Given the description of an element on the screen output the (x, y) to click on. 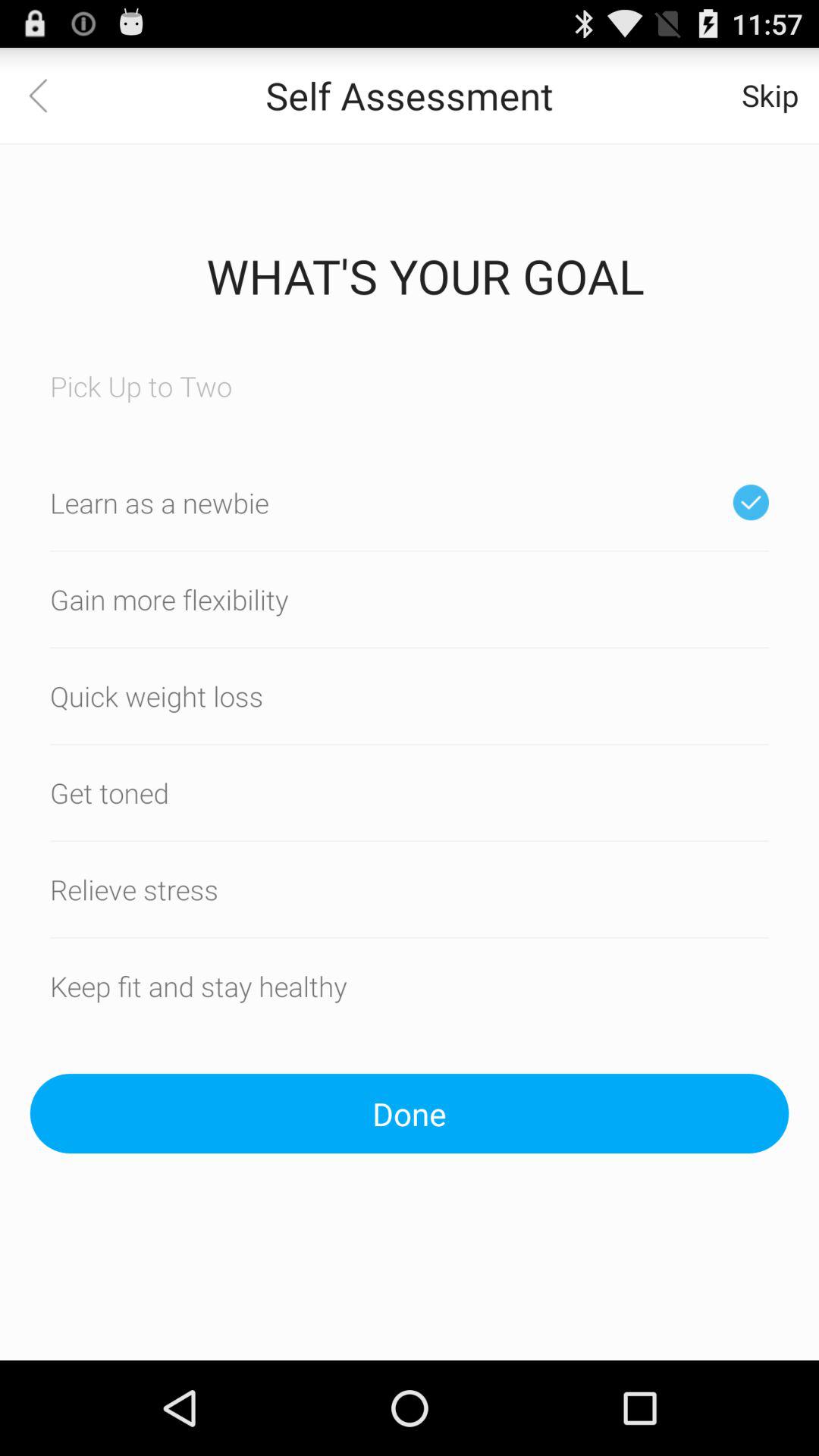
go back (47, 95)
